Given the description of an element on the screen output the (x, y) to click on. 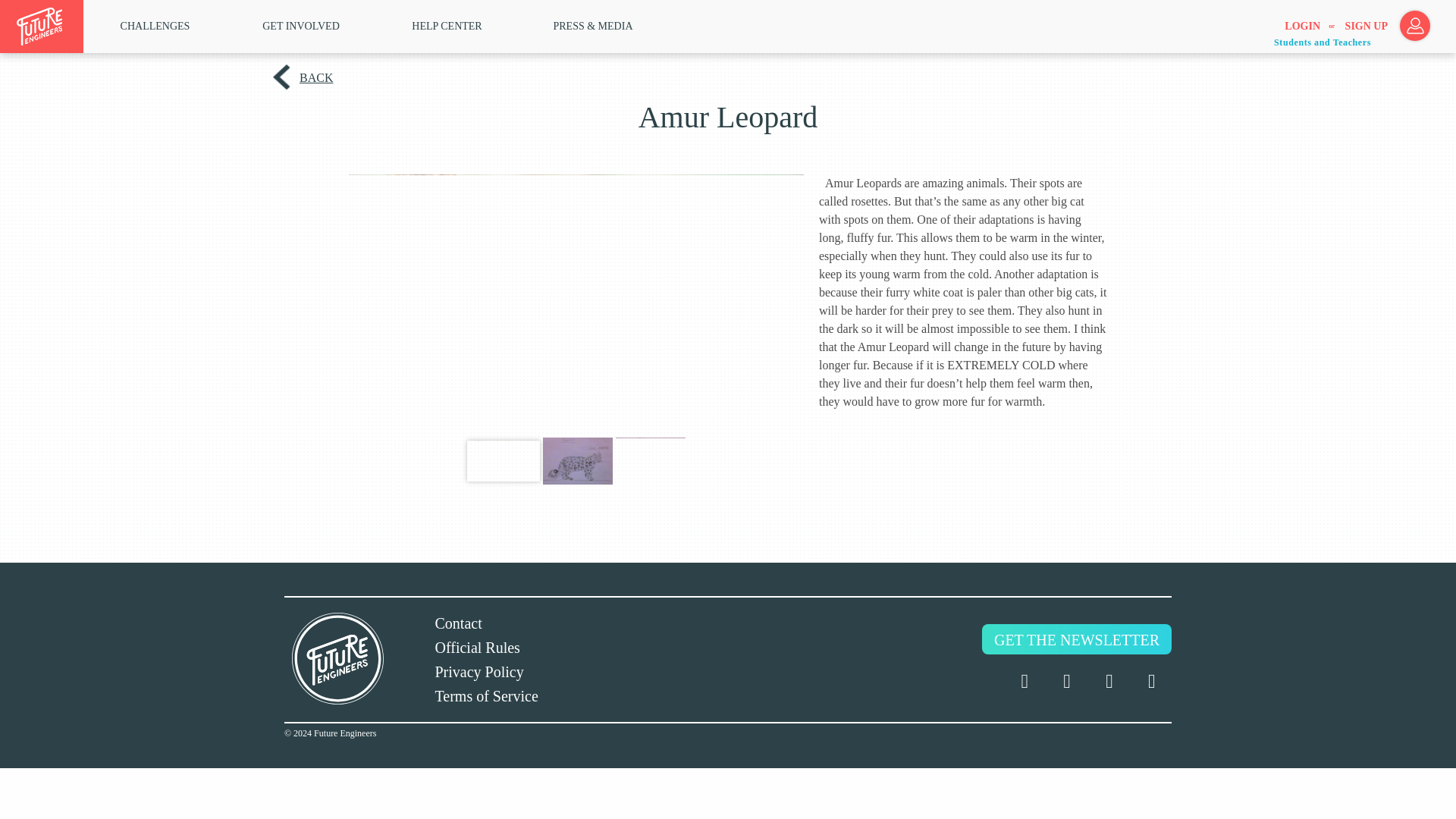
Back (314, 77)
Follow us on Facebook (1066, 681)
LOGIN (1302, 26)
Follow us on Instagram (1109, 681)
Follow us on Youtube (1152, 681)
CHALLENGES (155, 25)
SIGN UP (1366, 26)
HELP CENTER (446, 25)
Follow us on Twitter (1024, 681)
